Given the description of an element on the screen output the (x, y) to click on. 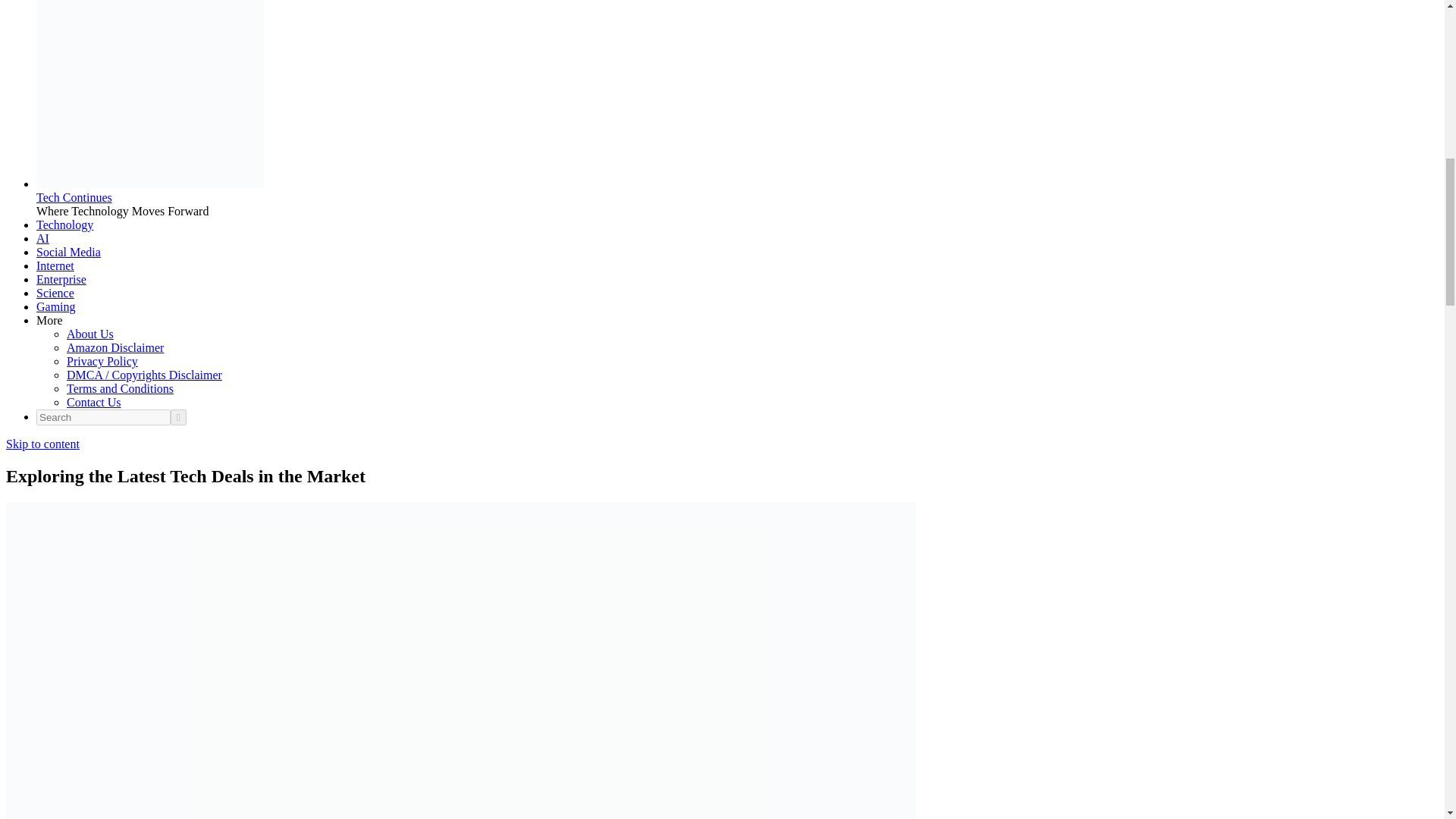
Science (55, 292)
More (49, 319)
Skip to content (42, 443)
About Us (89, 333)
Enterprise (60, 278)
Internet (55, 265)
Amazon Disclaimer (114, 347)
Social Media (68, 251)
Gaming (55, 306)
Technology (64, 224)
Tech Continues (74, 196)
Privacy Policy (102, 360)
Terms and Conditions (119, 388)
Contact Us (93, 401)
AI (42, 237)
